Given the description of an element on the screen output the (x, y) to click on. 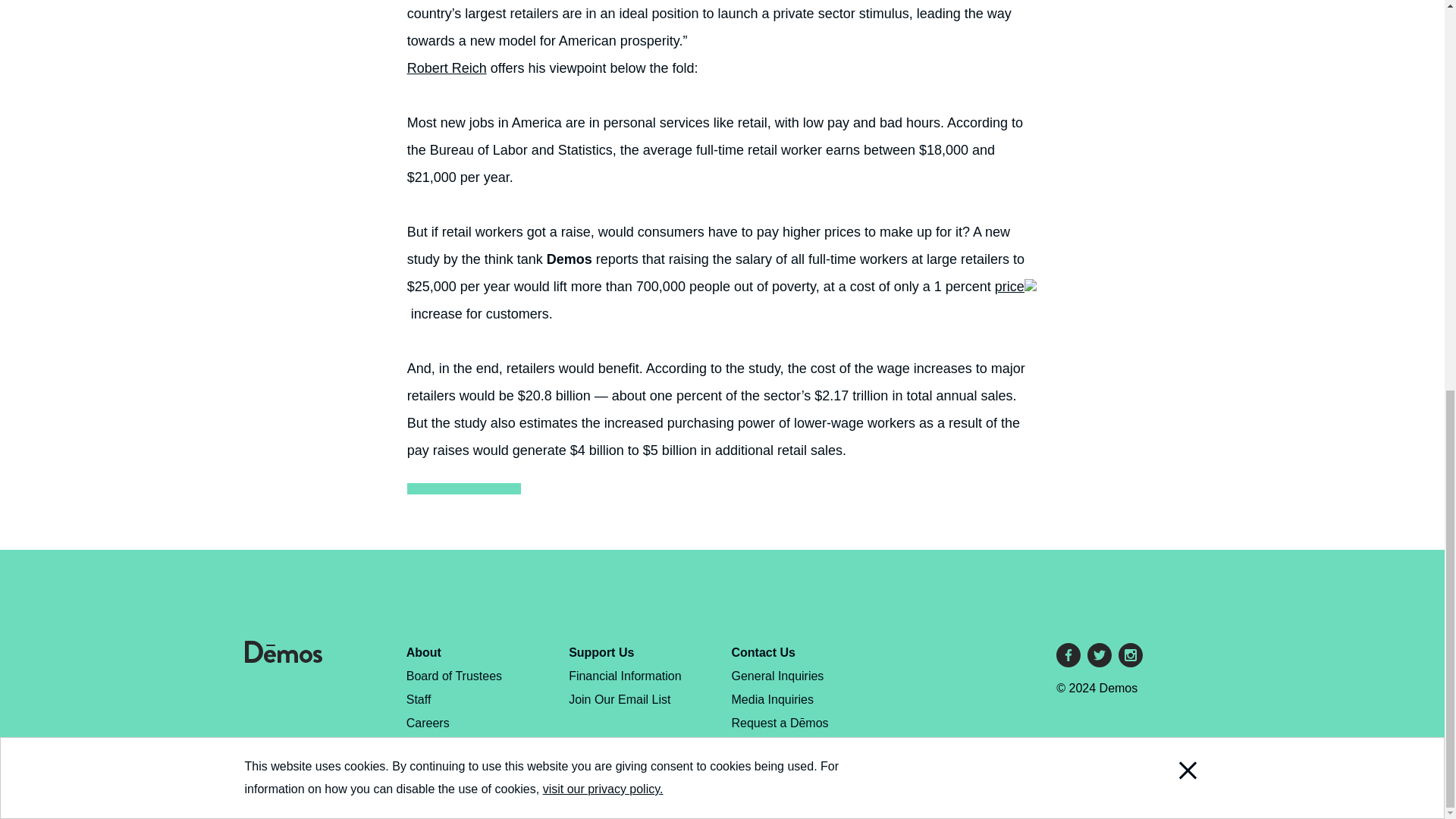
Financial Information (625, 675)
Join Our Email List (619, 698)
Reprint Permissions (460, 769)
price (1015, 286)
Media Inquiries (772, 698)
Contact Us (763, 652)
Staff (418, 698)
About Demos (423, 652)
Privacy Policy (443, 746)
Support Us (601, 652)
Complete a Demos speaker request (780, 734)
Careers (427, 722)
Home (282, 658)
Twitter (1099, 654)
About (423, 652)
